Given the description of an element on the screen output the (x, y) to click on. 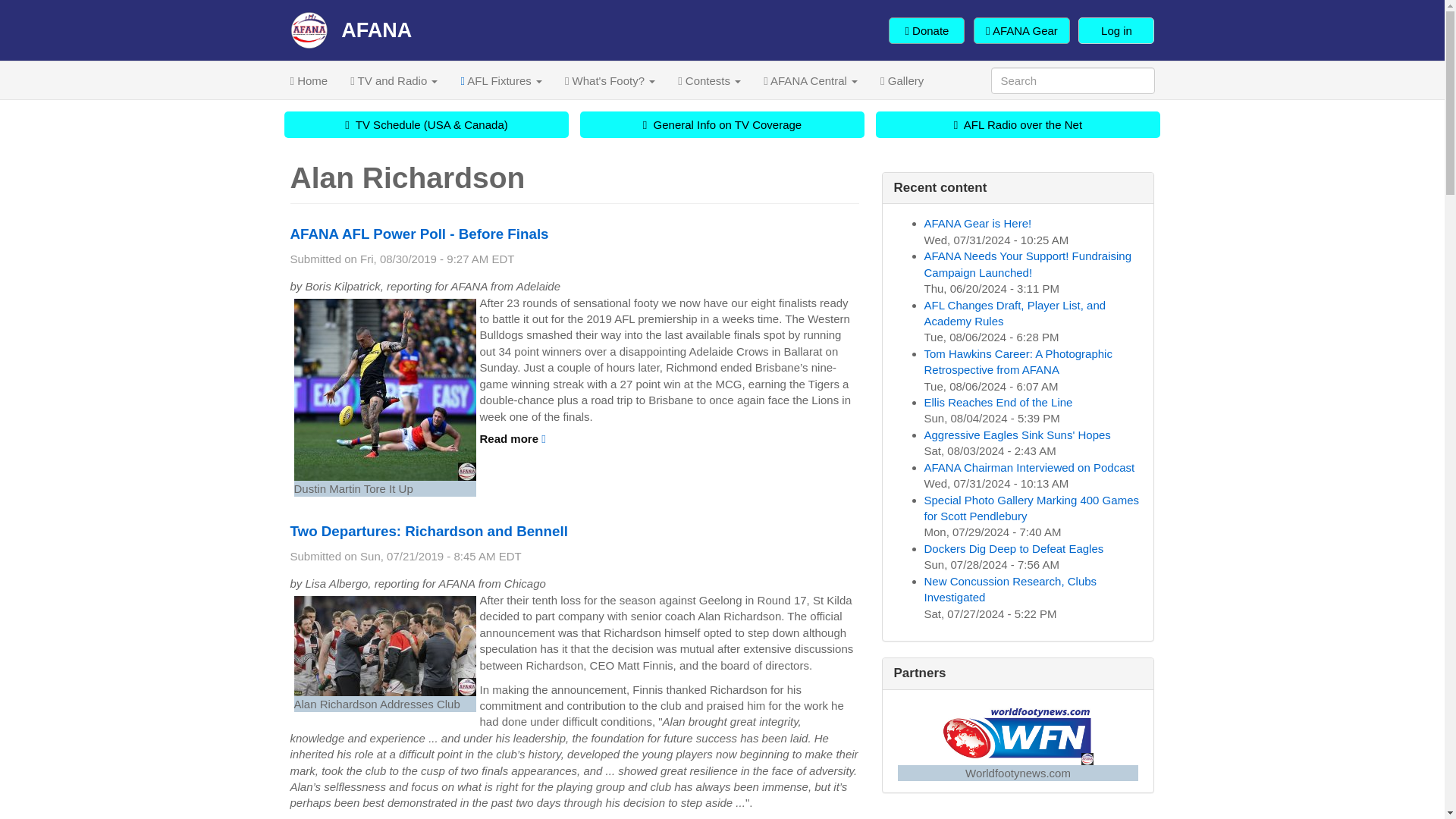
Aussie Rules News and Content (309, 80)
Contests (709, 80)
TV and Radio (393, 80)
Donate (925, 29)
Log in (1116, 29)
Home (350, 30)
Home (309, 80)
What's Footy? (609, 80)
AFL Fixtures (500, 80)
AFANA (350, 30)
AFANA Gear (1022, 29)
